Given the description of an element on the screen output the (x, y) to click on. 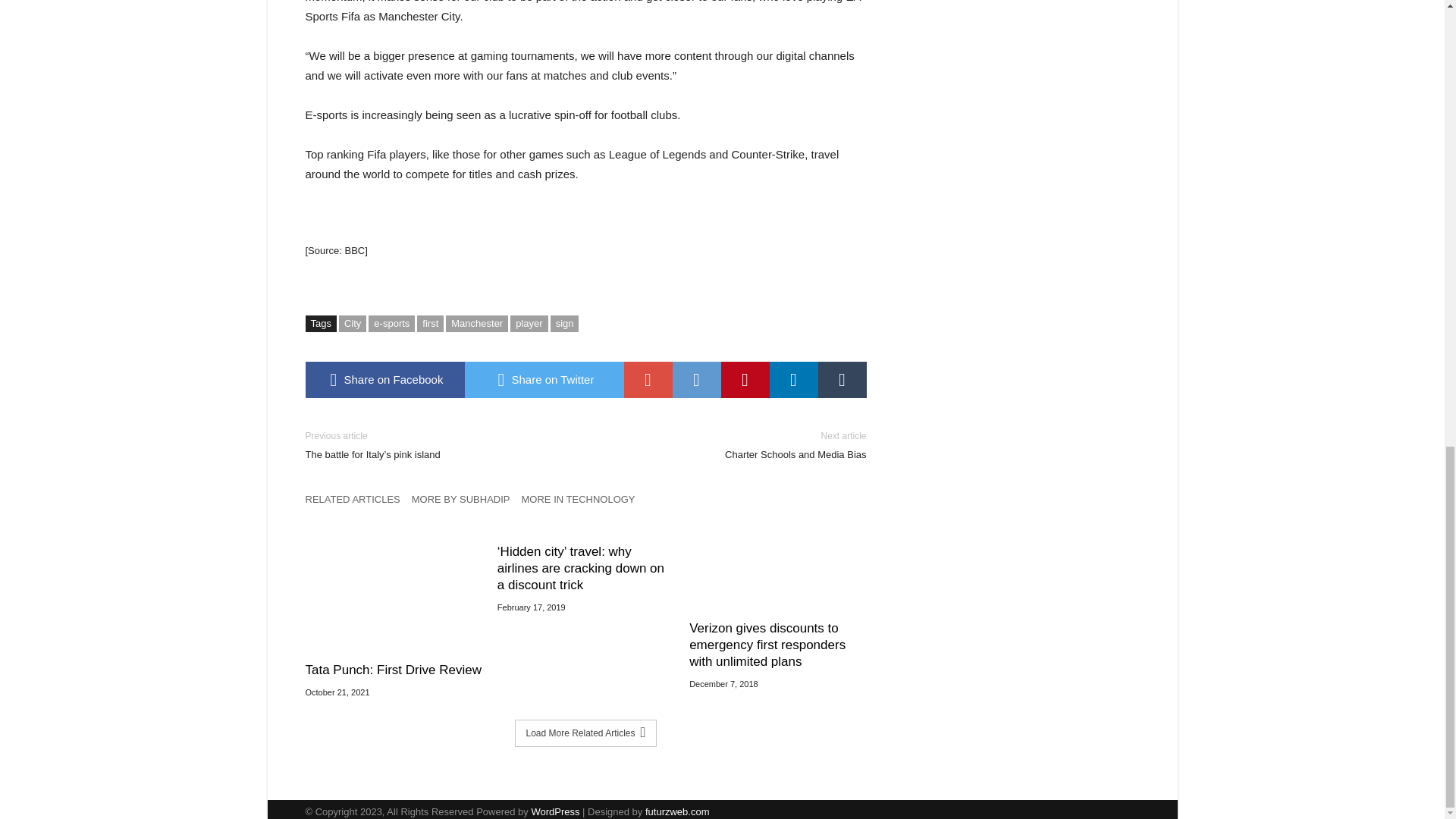
tumblr (841, 379)
player (737, 445)
Share on Twitter (529, 323)
Manchester (543, 379)
Share on Linkedin (476, 323)
google (792, 379)
first (647, 379)
reddit (430, 323)
RELATED ARTICLES (695, 379)
linkedin (357, 503)
Share on Pinterest (792, 379)
sign (744, 379)
Share on Reddit (564, 323)
twitter (695, 379)
